Given the description of an element on the screen output the (x, y) to click on. 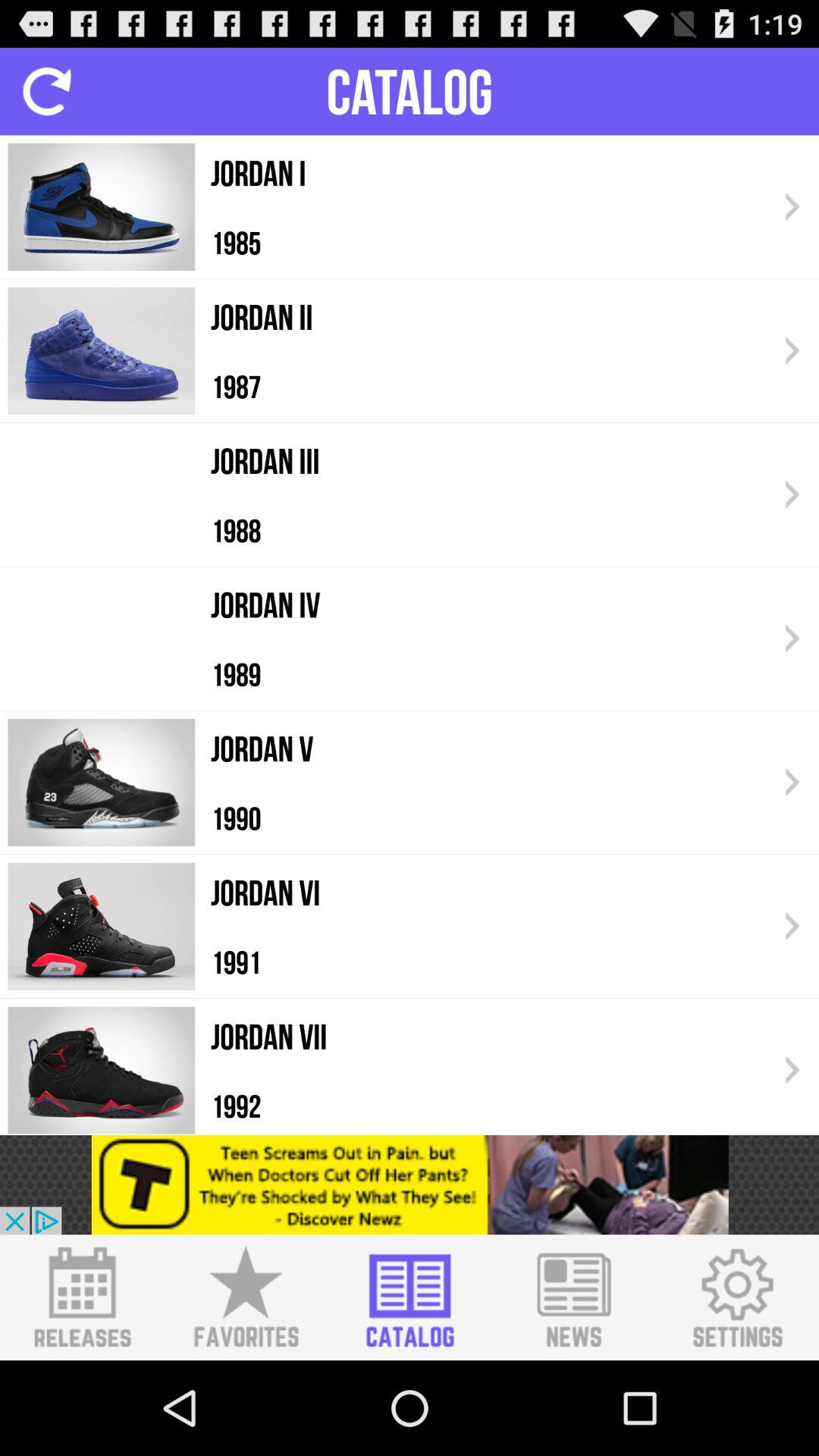
favourites (245, 1297)
